Given the description of an element on the screen output the (x, y) to click on. 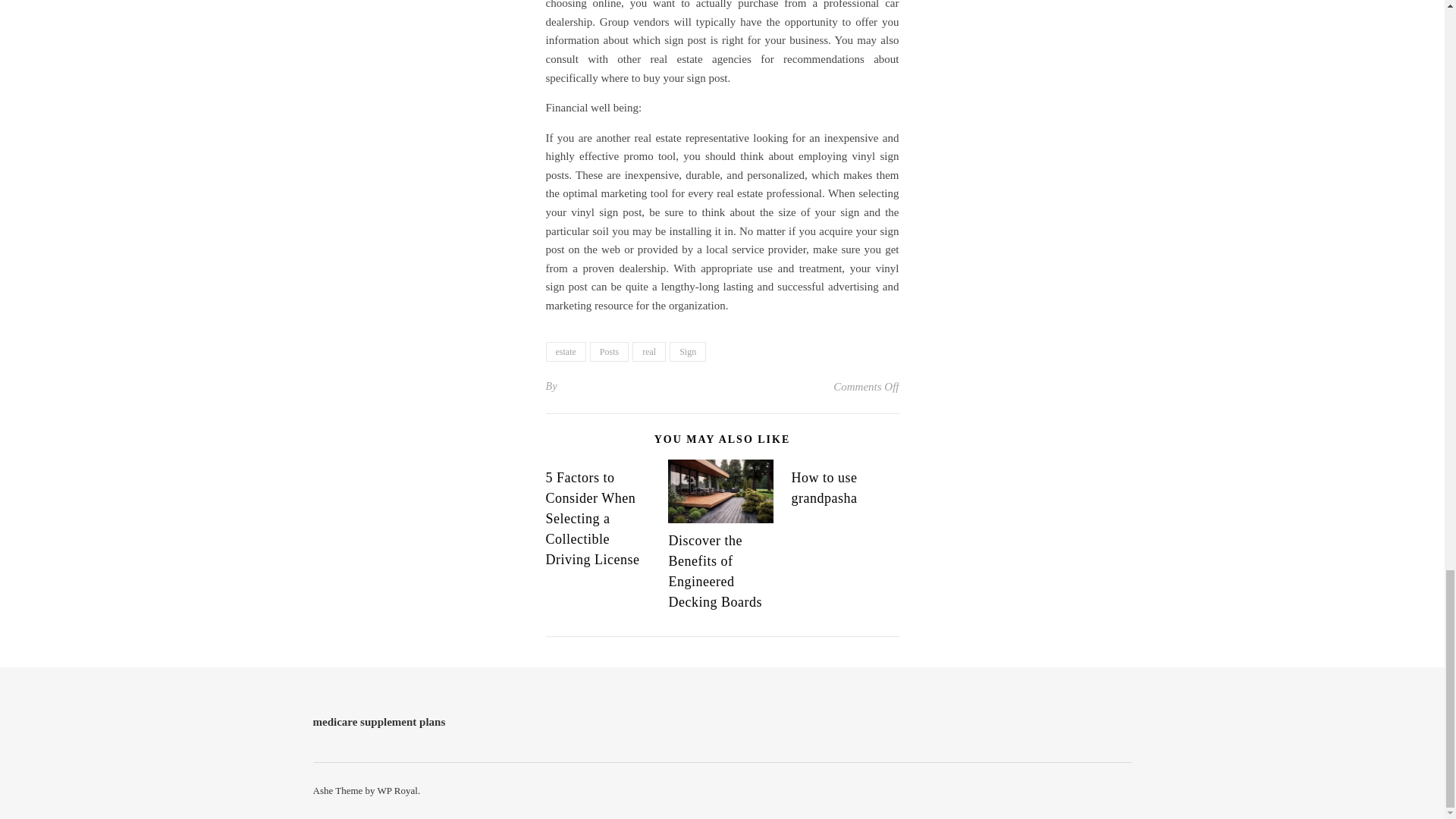
estate (566, 351)
How to use grandpasha (823, 488)
Discover the Benefits of Engineered Decking Boards (714, 571)
Sign (687, 351)
real (648, 351)
Posts (608, 351)
